Given the description of an element on the screen output the (x, y) to click on. 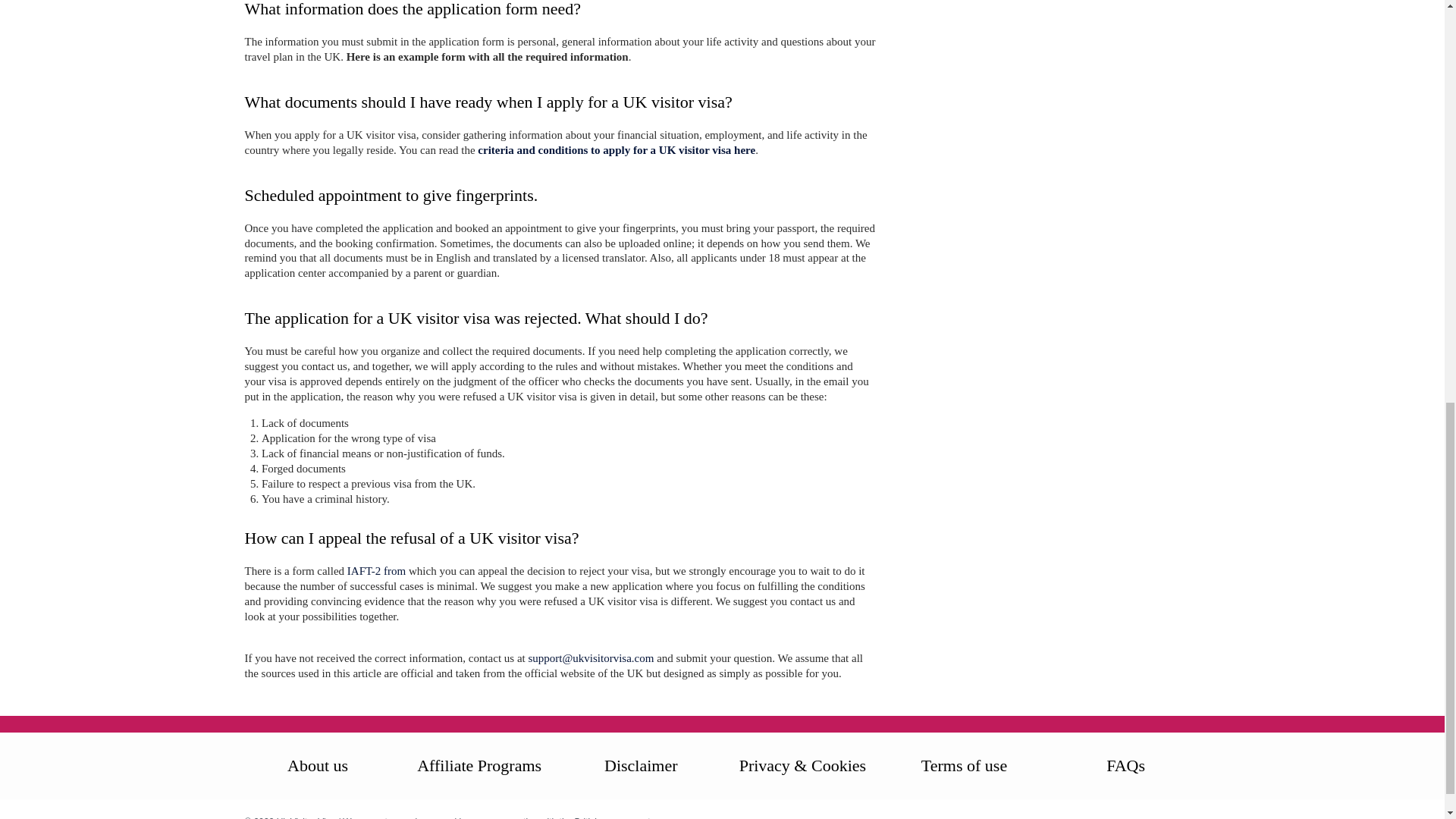
FAQs (1125, 765)
About us (316, 765)
criteria and conditions to apply for a UK visitor visa here (616, 150)
Disclaimer (641, 765)
FAQs (1125, 765)
Terms of use (964, 765)
Disclaimer (641, 765)
Affiliate Programs (478, 765)
Terms of use (964, 765)
Affiliate Programs (478, 765)
